Given the description of an element on the screen output the (x, y) to click on. 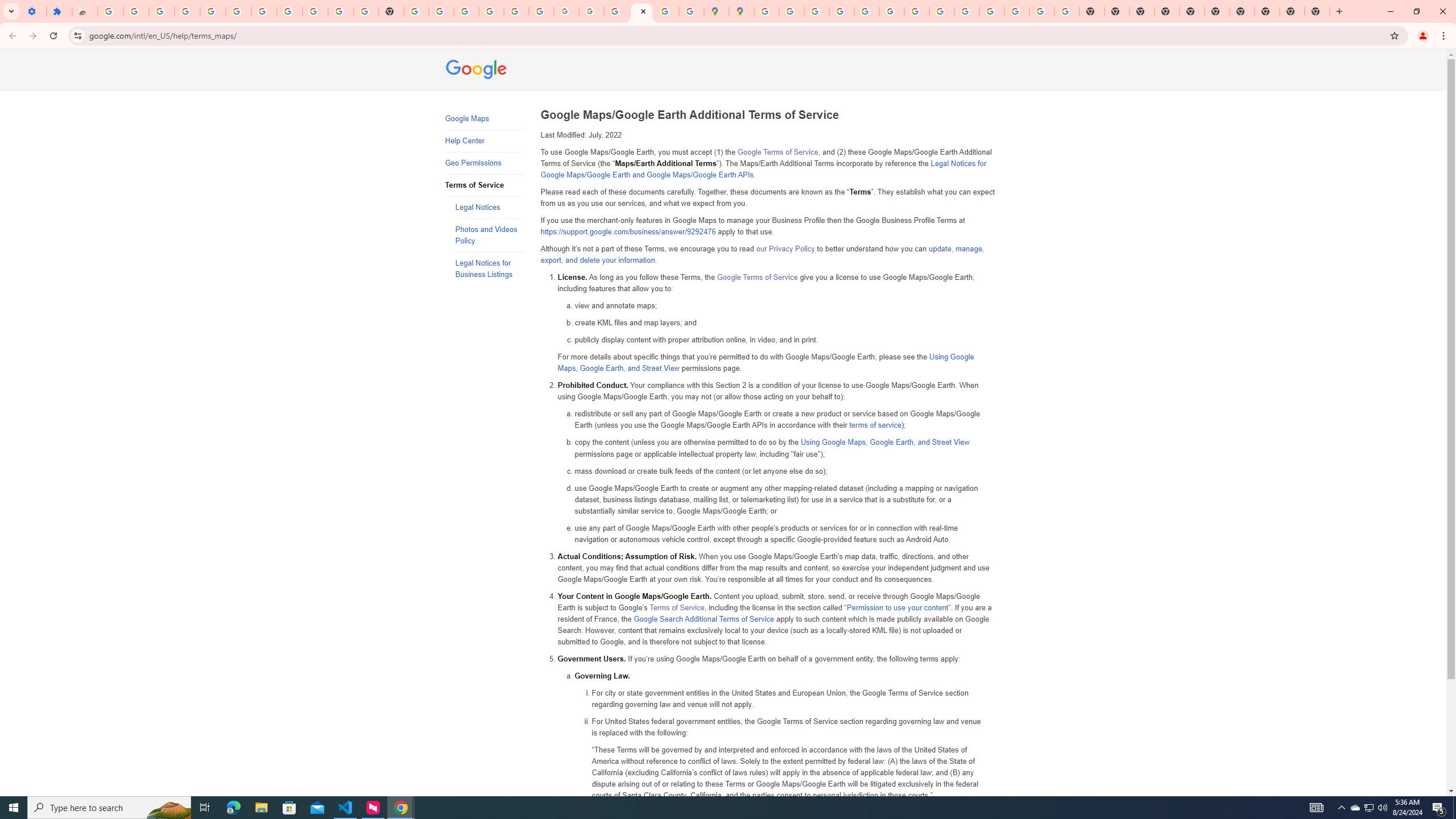
Minimize (1390, 11)
Photos and Videos Policy (489, 235)
Extensions (59, 11)
Sign in - Google Accounts (110, 11)
Reviews: Helix Fruit Jump Arcade Game (84, 11)
Reload (52, 35)
View site information (77, 35)
update, manage, export, and delete your information (762, 254)
Settings - On startup (34, 11)
Privacy Help Center - Policies Help (841, 11)
Privacy Help Center - Policies Help (816, 11)
Browse Chrome as a guest - Computer - Google Chrome Help (941, 11)
